Given the description of an element on the screen output the (x, y) to click on. 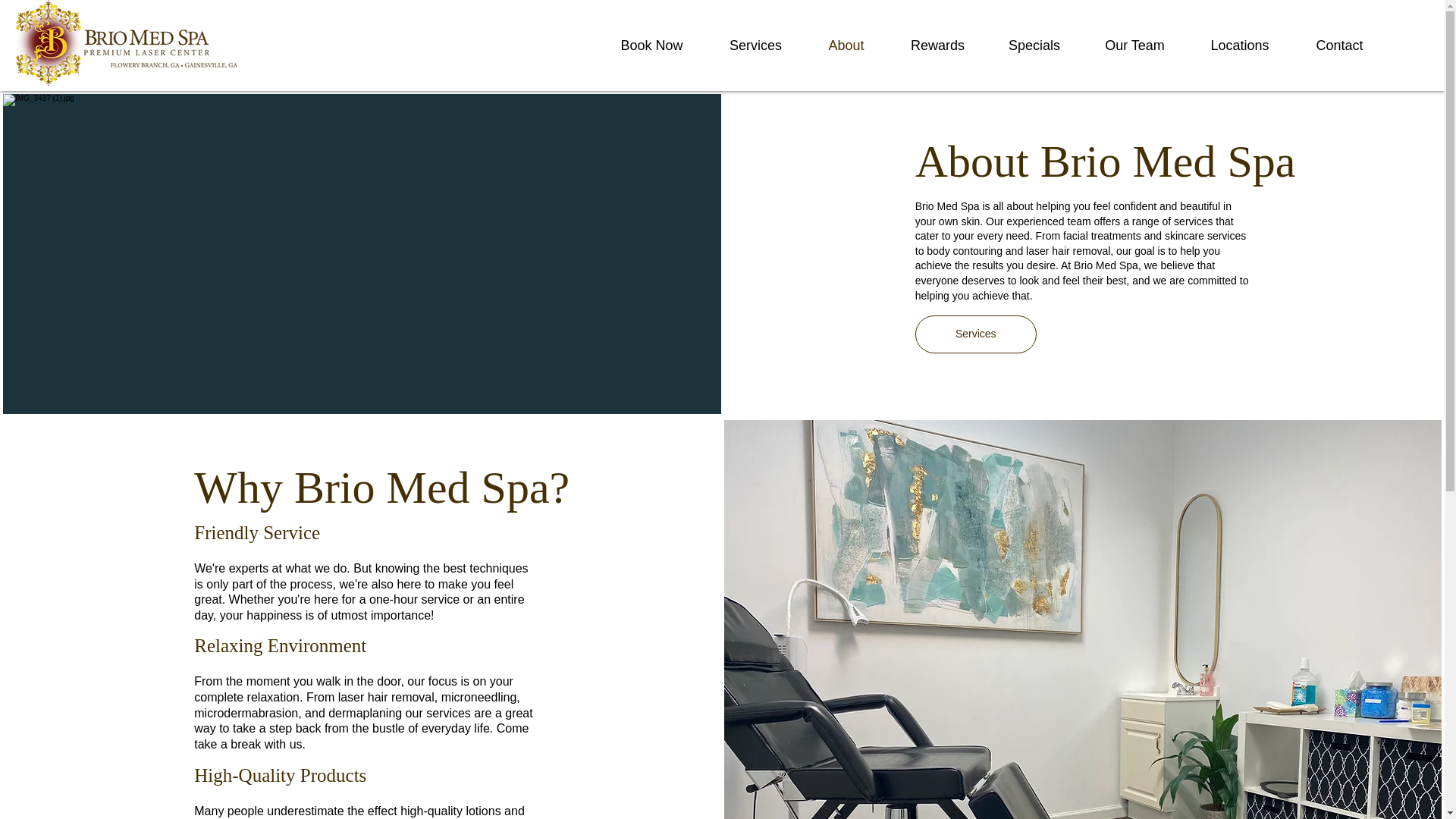
Contact (1339, 45)
Our Team (1134, 45)
Book Now (651, 45)
Specials (1034, 45)
Locations (1240, 45)
Rewards (937, 45)
Services (755, 45)
About (845, 45)
Services (975, 333)
